Given the description of an element on the screen output the (x, y) to click on. 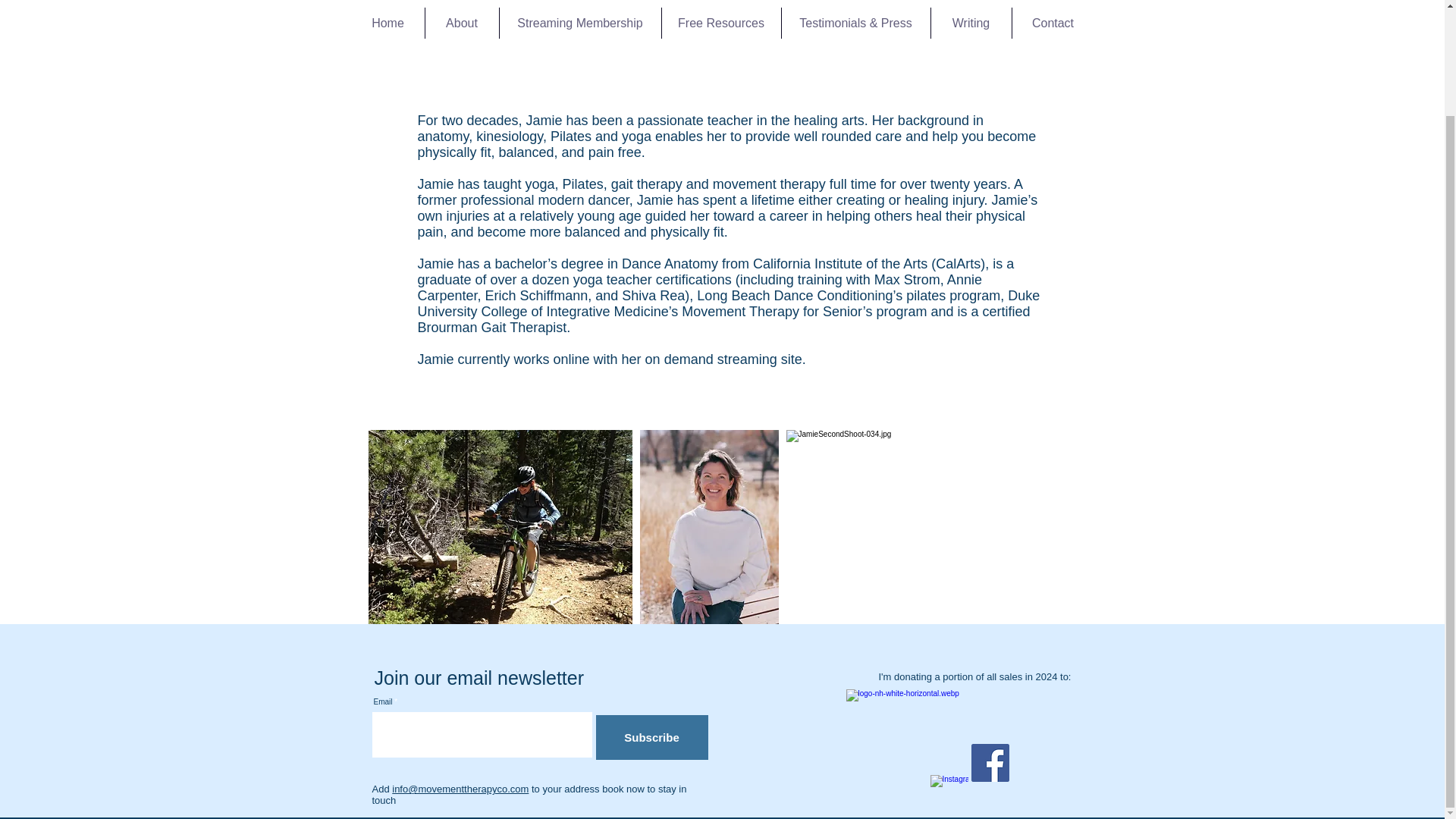
Home (388, 22)
Contact (1052, 22)
About (461, 22)
Free Resources (720, 22)
Streaming Membership (580, 22)
Writing (971, 22)
Subscribe (651, 737)
